Given the description of an element on the screen output the (x, y) to click on. 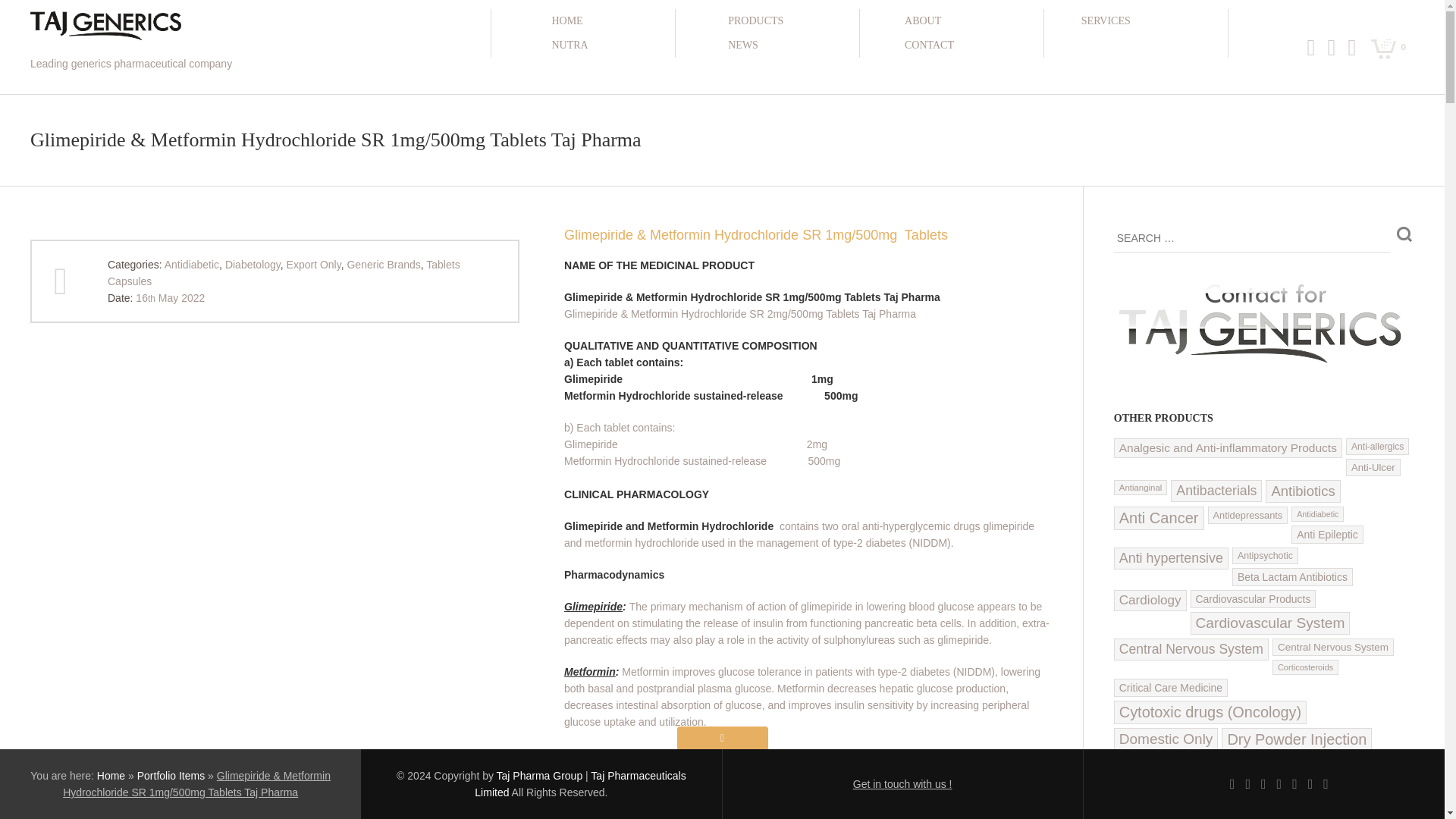
Search (1403, 234)
HOME (609, 21)
PRODUCTS (786, 21)
Search for: (1251, 238)
Portfolio Items (170, 775)
Search (1403, 234)
ABOUT (963, 21)
